Given the description of an element on the screen output the (x, y) to click on. 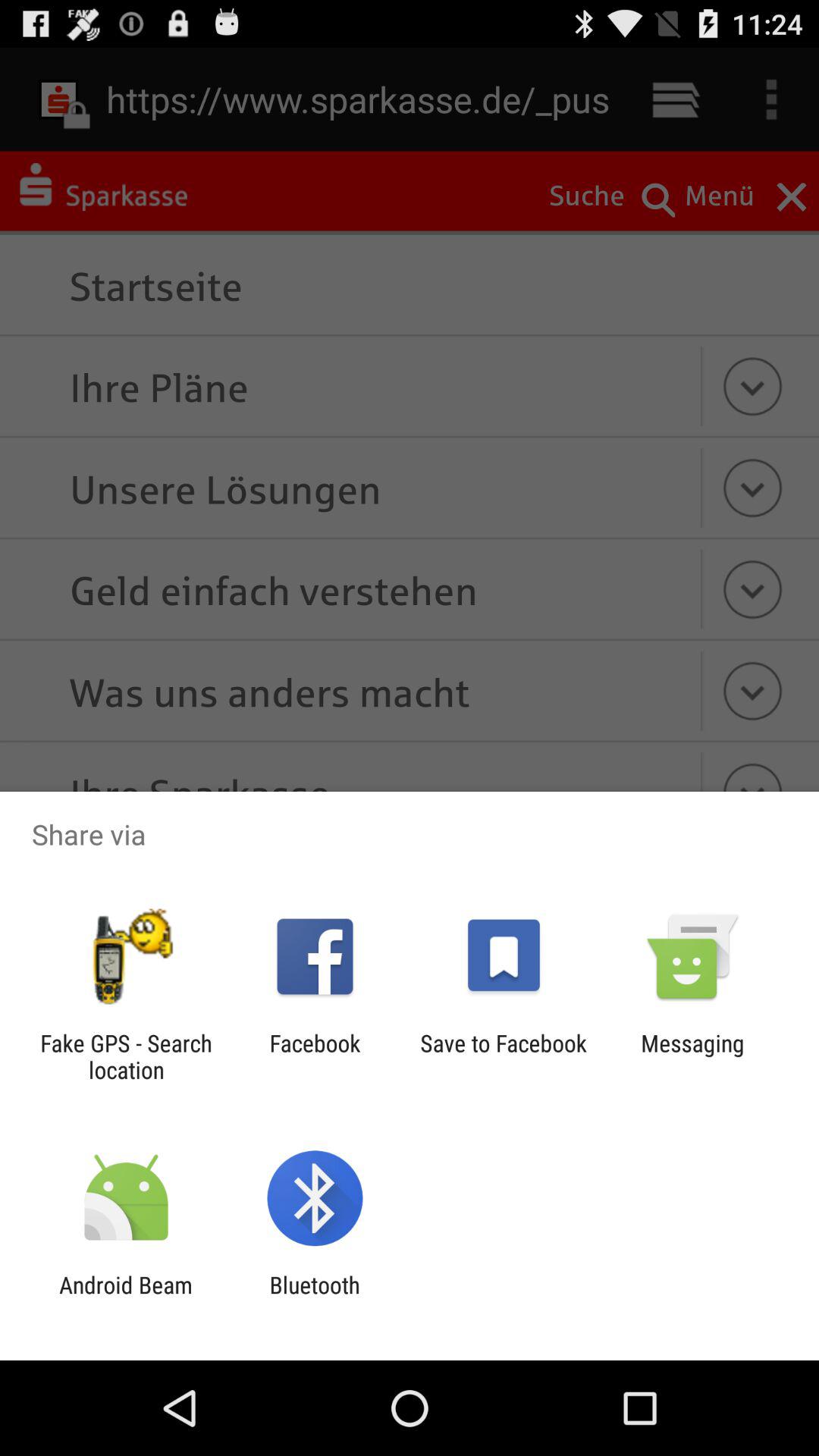
turn on item to the left of the messaging icon (503, 1056)
